Given the description of an element on the screen output the (x, y) to click on. 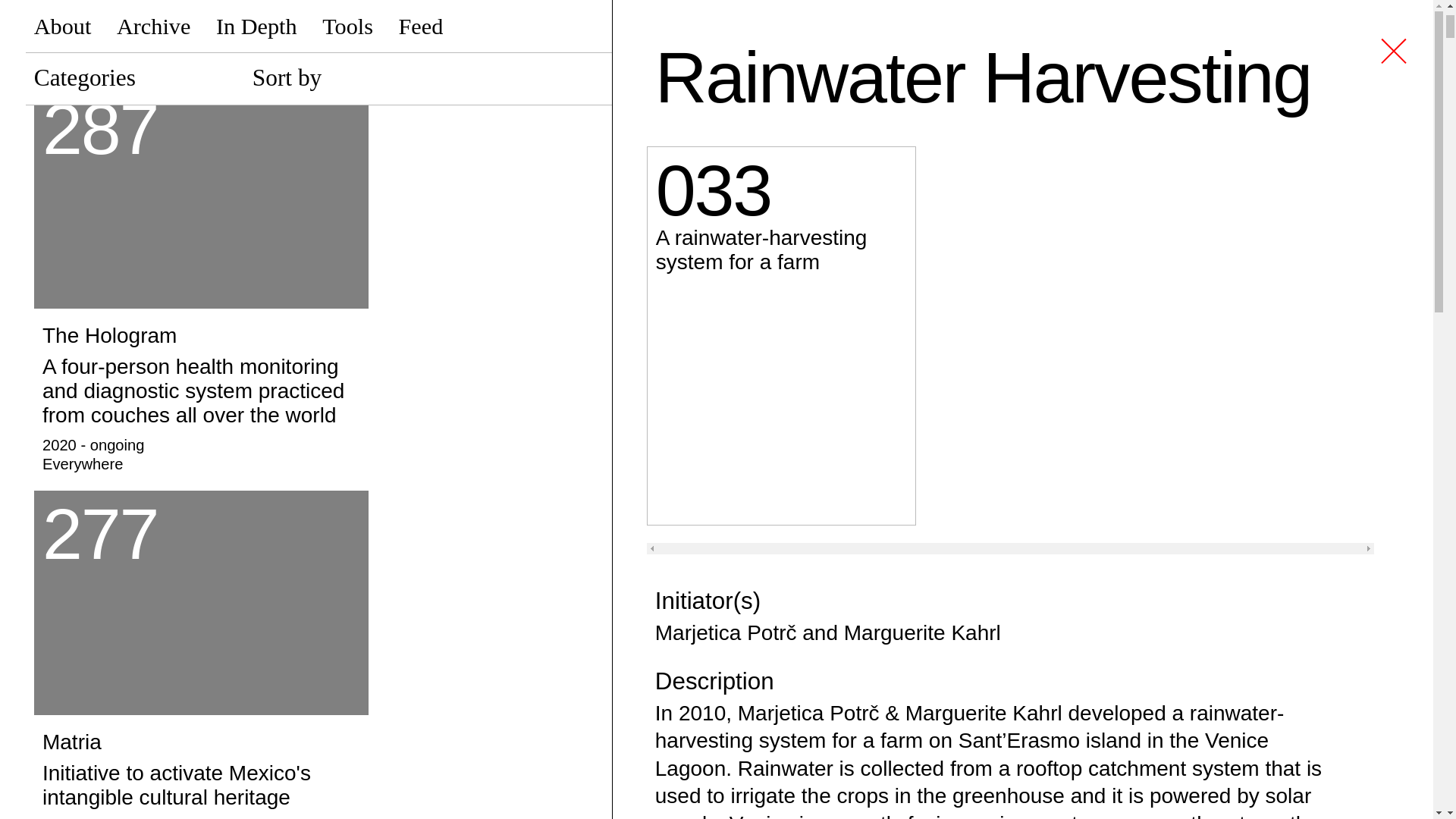
Matria (200, 602)
Matria (200, 771)
The Hologram (200, 196)
The Hologram (200, 394)
Part-time Resistance (200, 33)
